Given the description of an element on the screen output the (x, y) to click on. 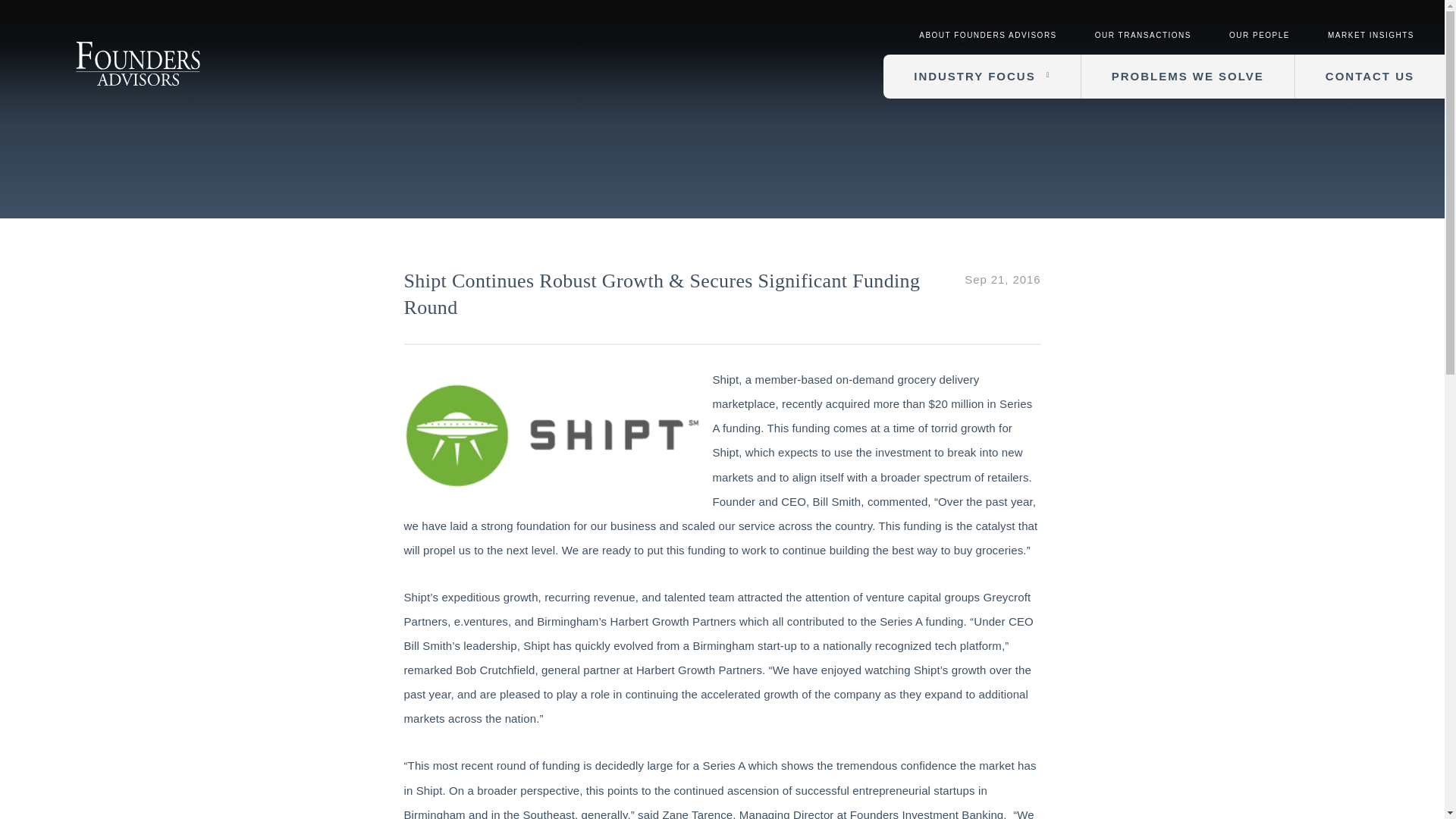
ABOUT FOUNDERS ADVISORS (987, 35)
INDUSTRY FOCUS (981, 76)
OUR PEOPLE (1259, 35)
OUR TRANSACTIONS (1142, 35)
PROBLEMS WE SOLVE (1187, 76)
MARKET INSIGHTS (1370, 35)
